Given the description of an element on the screen output the (x, y) to click on. 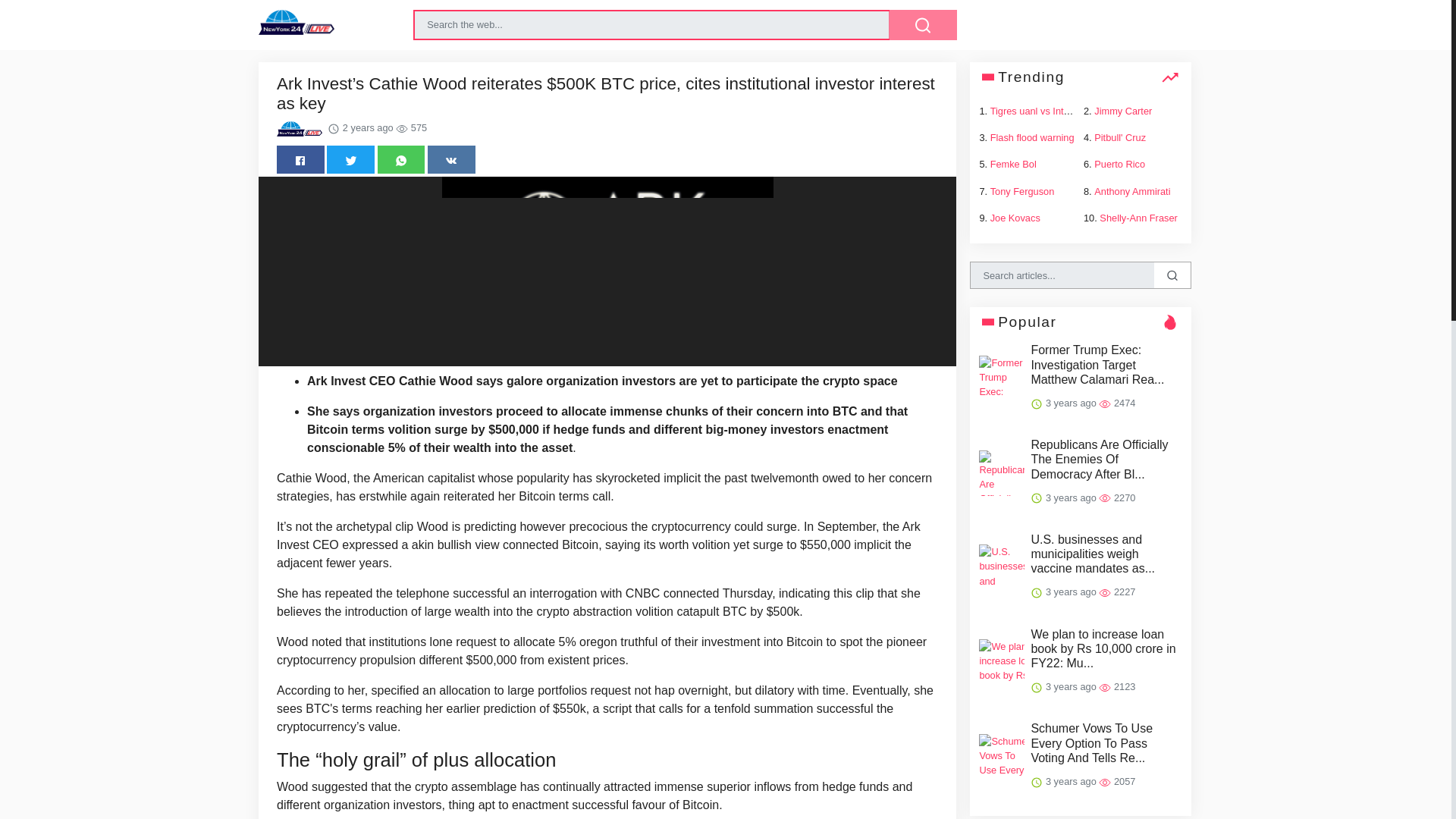
Jimmy Carter (1122, 111)
Share on Twitter (350, 159)
Tony Ferguson (1022, 190)
Flash flood warning (1032, 137)
Shelly-Ann Fraser (1137, 216)
Pitbull' Cruz (1119, 137)
expressed a akin bullish view (420, 544)
Share on Facebook (300, 159)
Share on VK (452, 159)
investment into Bitcoin (761, 641)
Tigres uanl vs Inter Miami (1045, 111)
Tigres uanl vs Inter Miami (1045, 111)
Joe Kovacs (1015, 216)
Anthony Ammirati (1132, 190)
Puerto Rico (1119, 163)
